Given the description of an element on the screen output the (x, y) to click on. 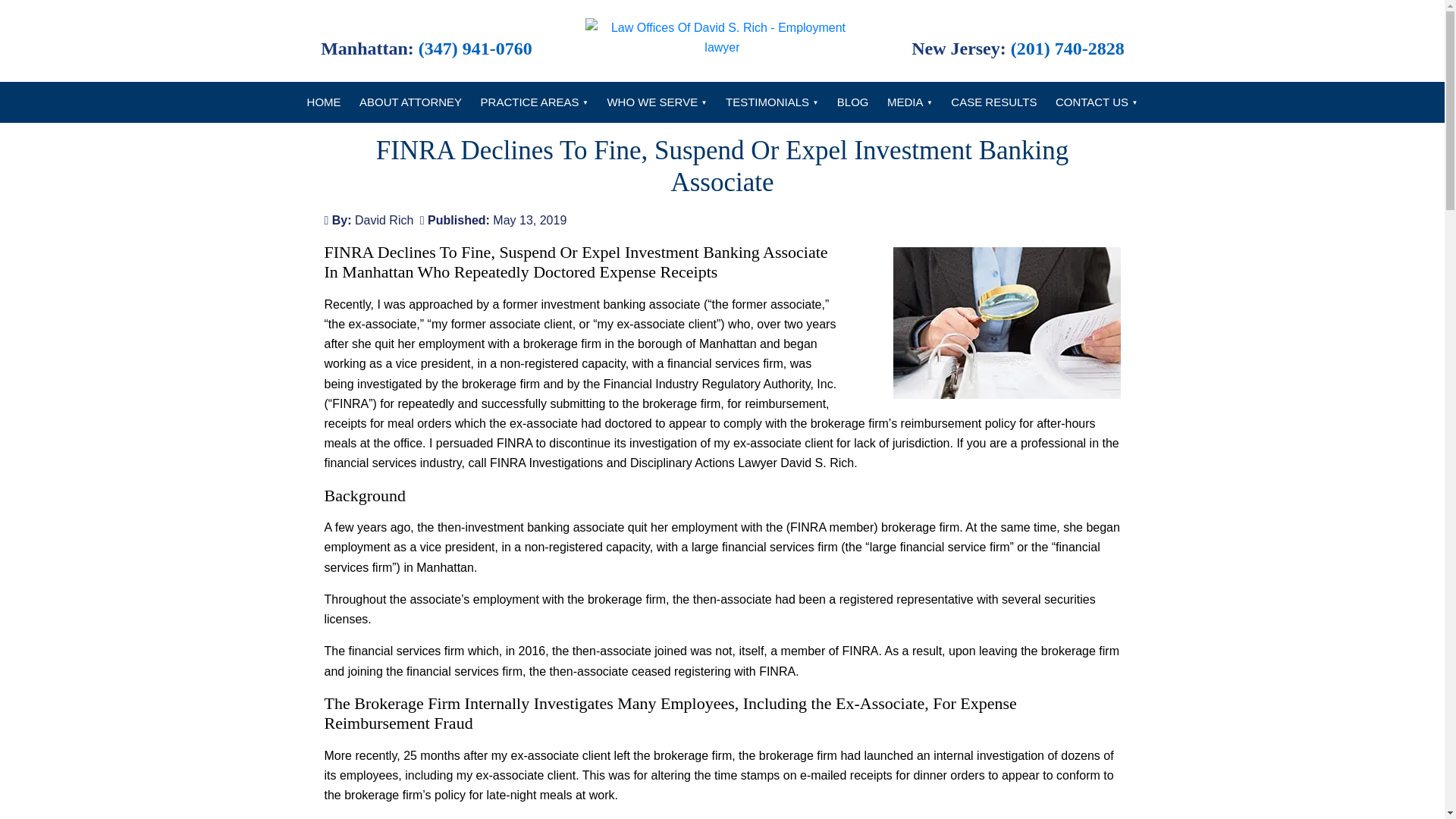
CASE RESULTS (993, 101)
BLOG (852, 101)
ABOUT ATTORNEY (410, 101)
MEDIA (909, 101)
PRACTICE AREAS (534, 101)
CONTACT US (1096, 101)
